Given the description of an element on the screen output the (x, y) to click on. 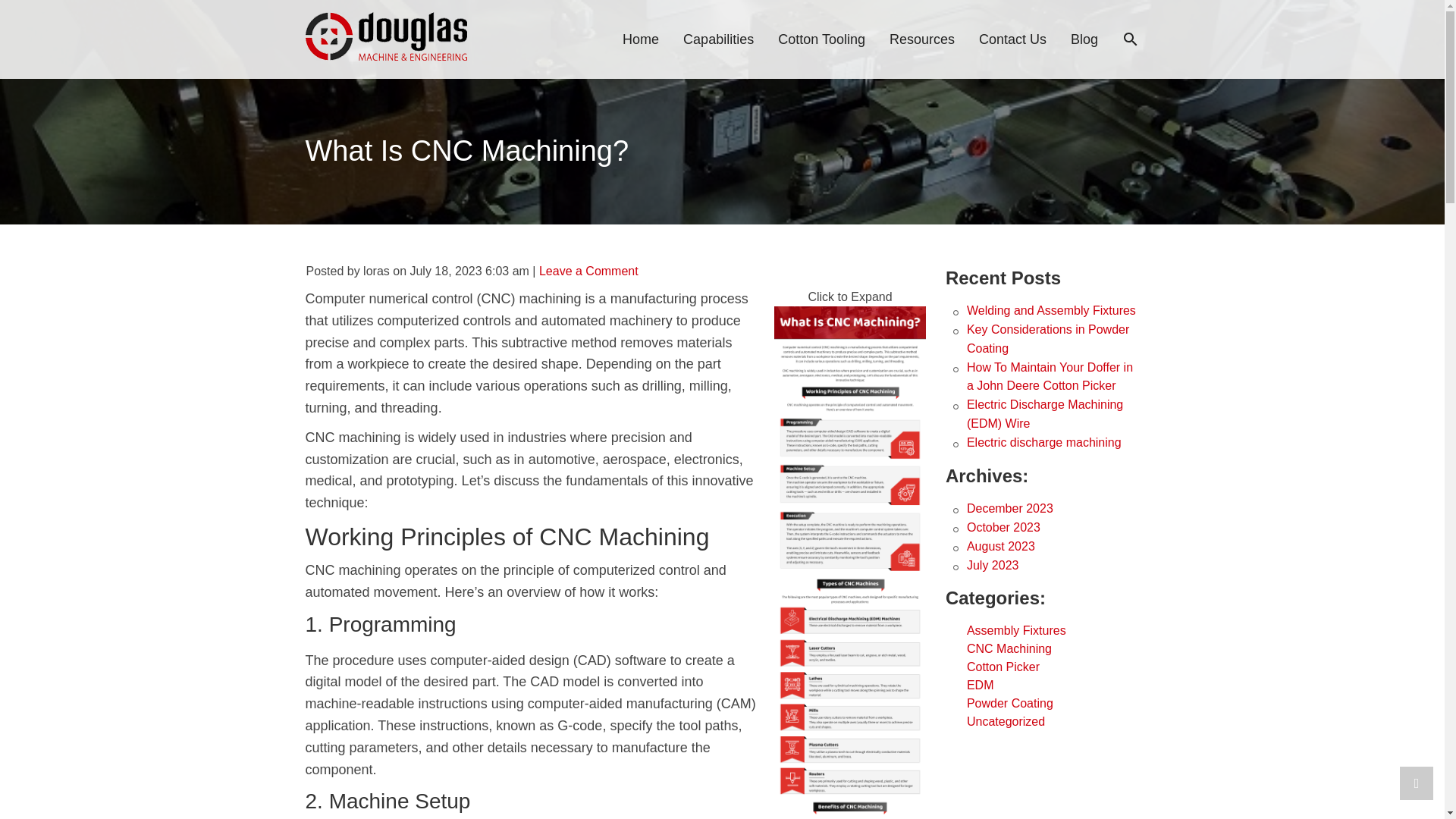
Home (640, 39)
October 2023 (1003, 526)
CNC Machining (1008, 648)
Cotton Picker (1002, 666)
Capabilities (717, 39)
December 2023 (1009, 508)
Assembly Fixtures (1015, 630)
Leave a Comment (588, 270)
Key Considerations in Powder Coating (1047, 338)
August 2023 (1000, 545)
